Given the description of an element on the screen output the (x, y) to click on. 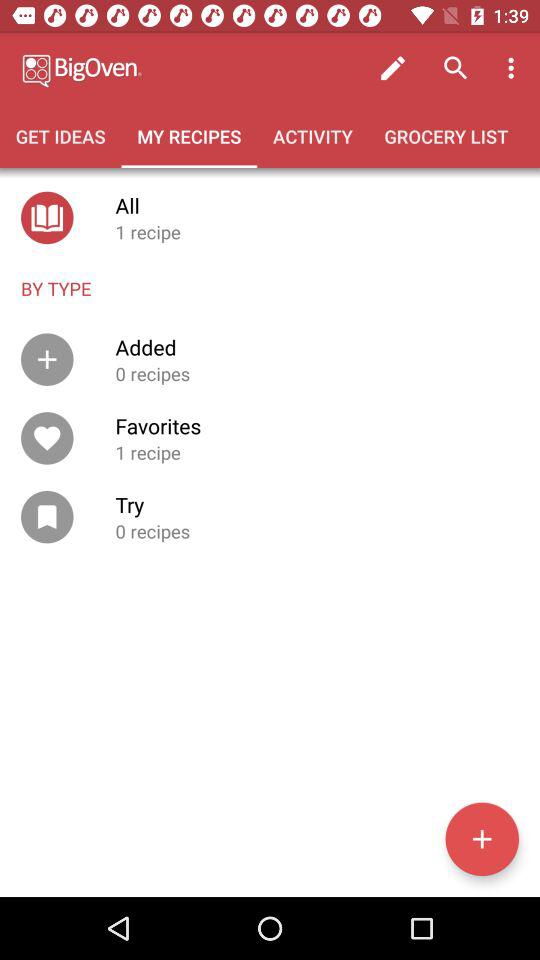
open additional settings (482, 839)
